Given the description of an element on the screen output the (x, y) to click on. 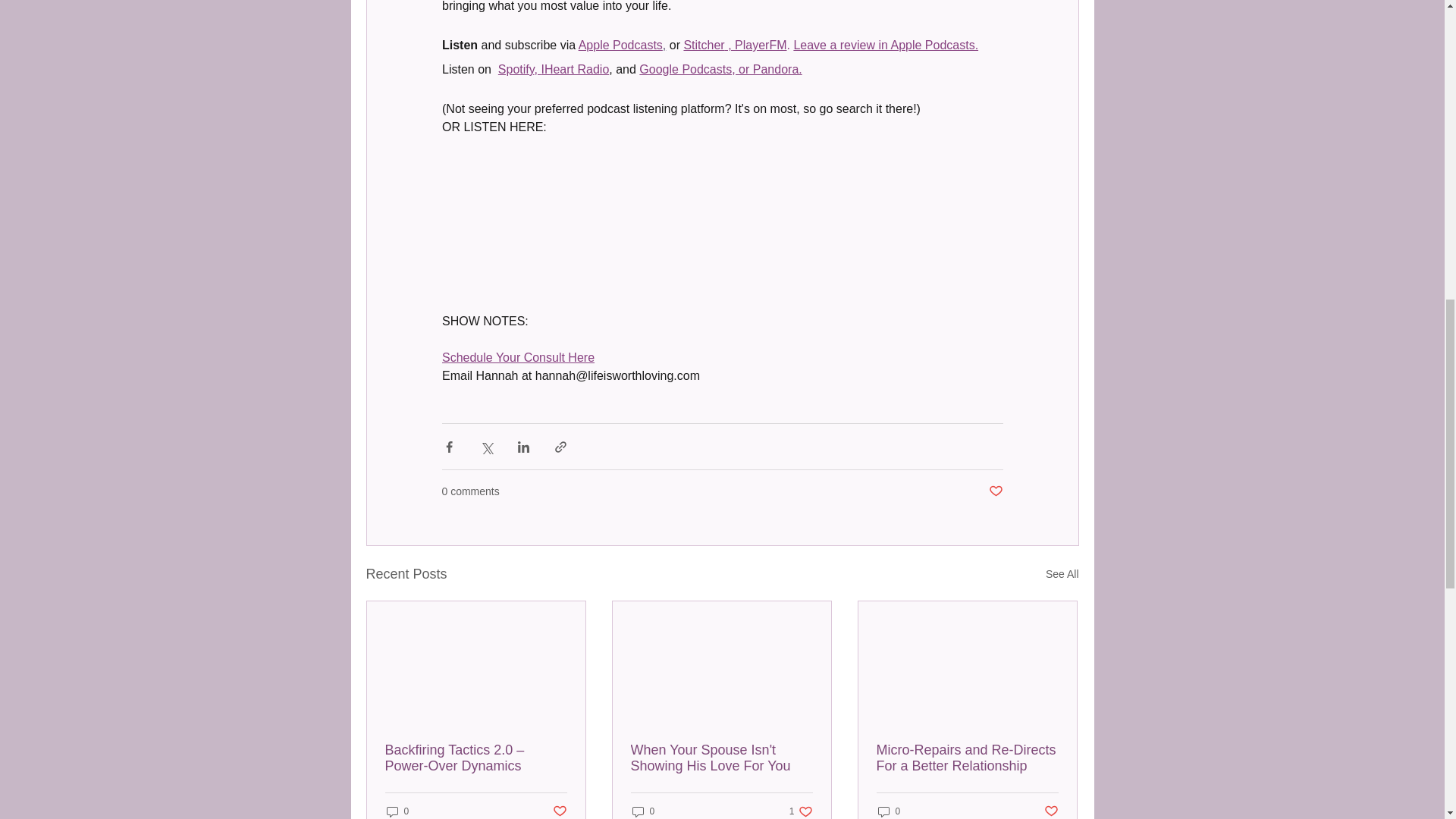
Stitcher (702, 44)
Spotify (515, 69)
IHeart Radio (574, 69)
Apple Podcasts (620, 44)
Schedule Your Consult Here (517, 357)
Google Podcasts (685, 69)
PlayerFM (760, 44)
Leave a review in Apple Podcasts. (885, 44)
